Given the description of an element on the screen output the (x, y) to click on. 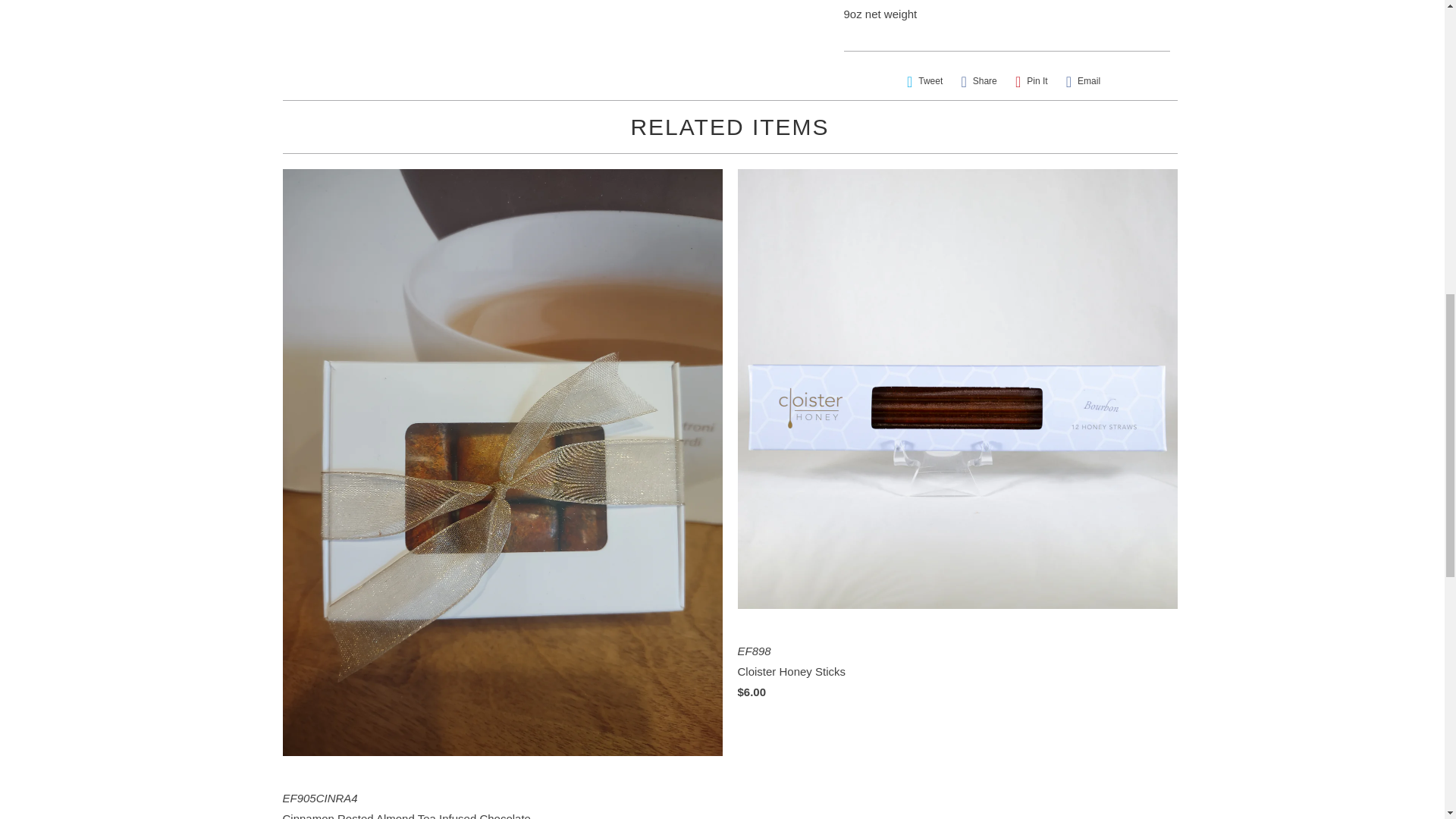
Share this on Pinterest (1031, 81)
Share this on Facebook (978, 81)
Share this on Twitter (924, 81)
Email this to a friend (1083, 81)
